Given the description of an element on the screen output the (x, y) to click on. 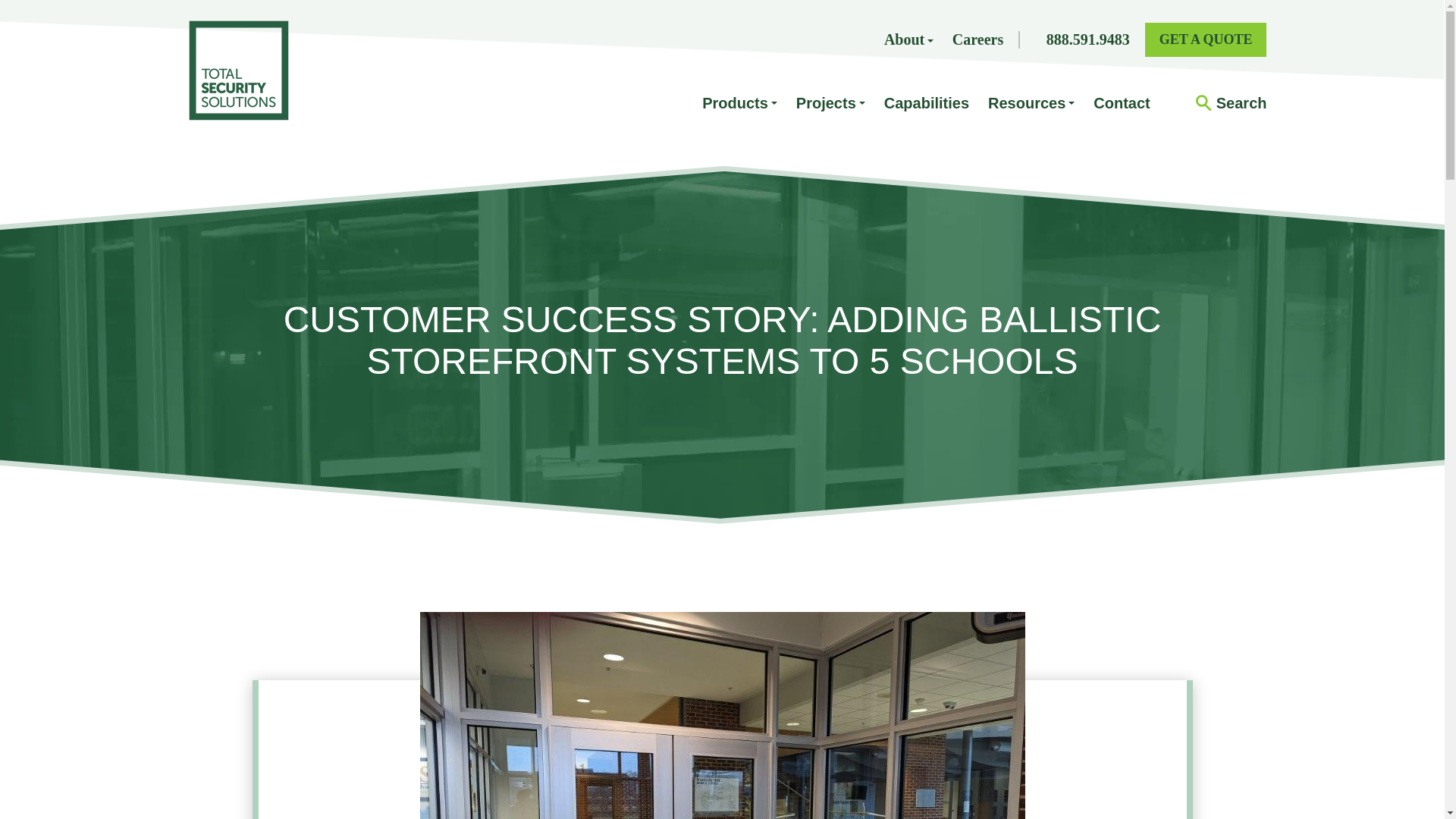
Products (739, 103)
GET A QUOTE (1205, 39)
888.591.9483 (1087, 39)
About (908, 39)
Careers (977, 39)
